Given the description of an element on the screen output the (x, y) to click on. 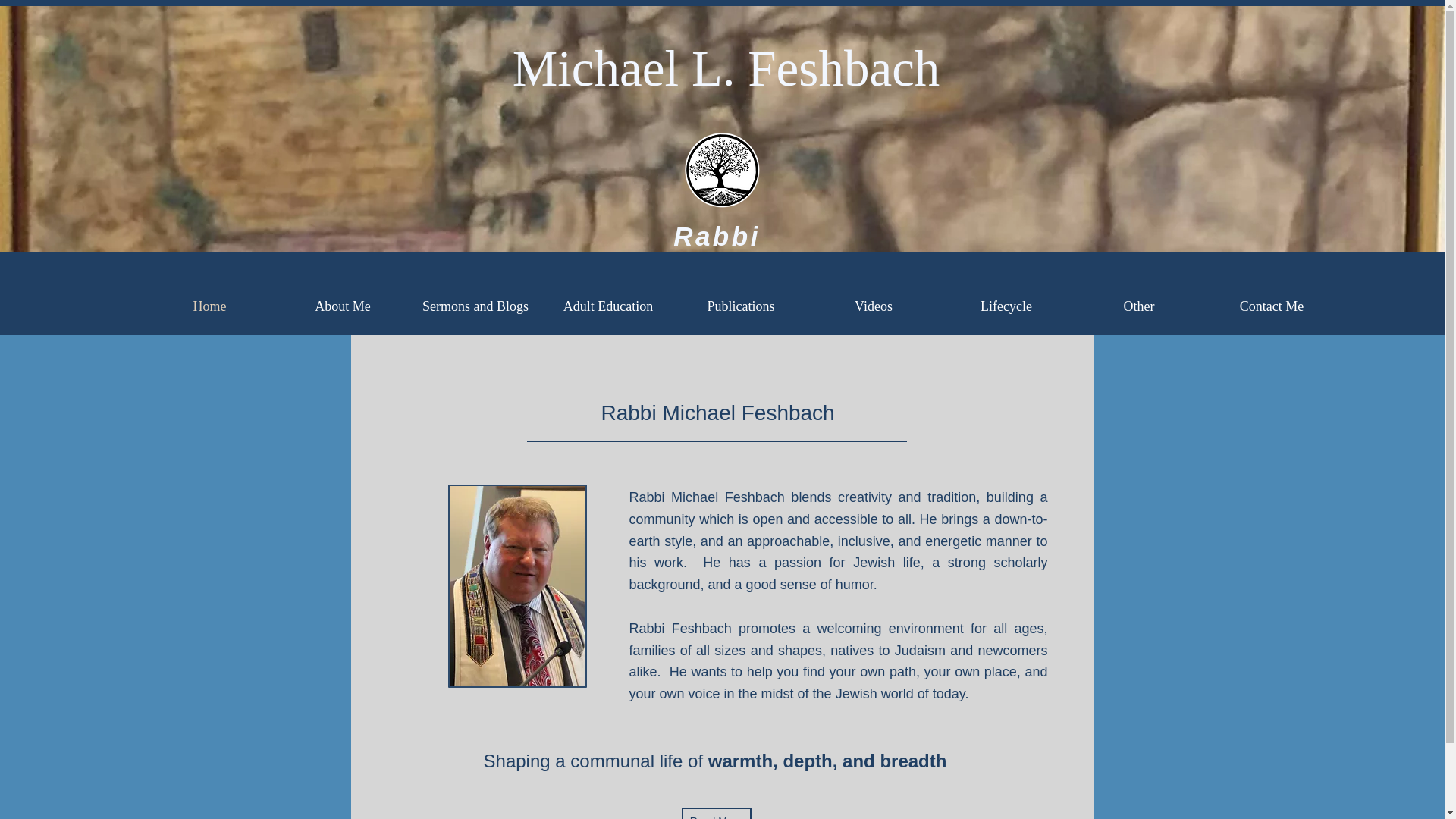
Adult Education (607, 306)
Other (1138, 306)
About Me (342, 306)
Read More (716, 813)
Rabbi (716, 235)
Videos (872, 306)
Sermons and Blogs (475, 306)
Home (209, 306)
Lifecycle (1006, 306)
Contact Me (1271, 306)
Michael L. Feshbach (726, 68)
Publications (741, 306)
